Given the description of an element on the screen output the (x, y) to click on. 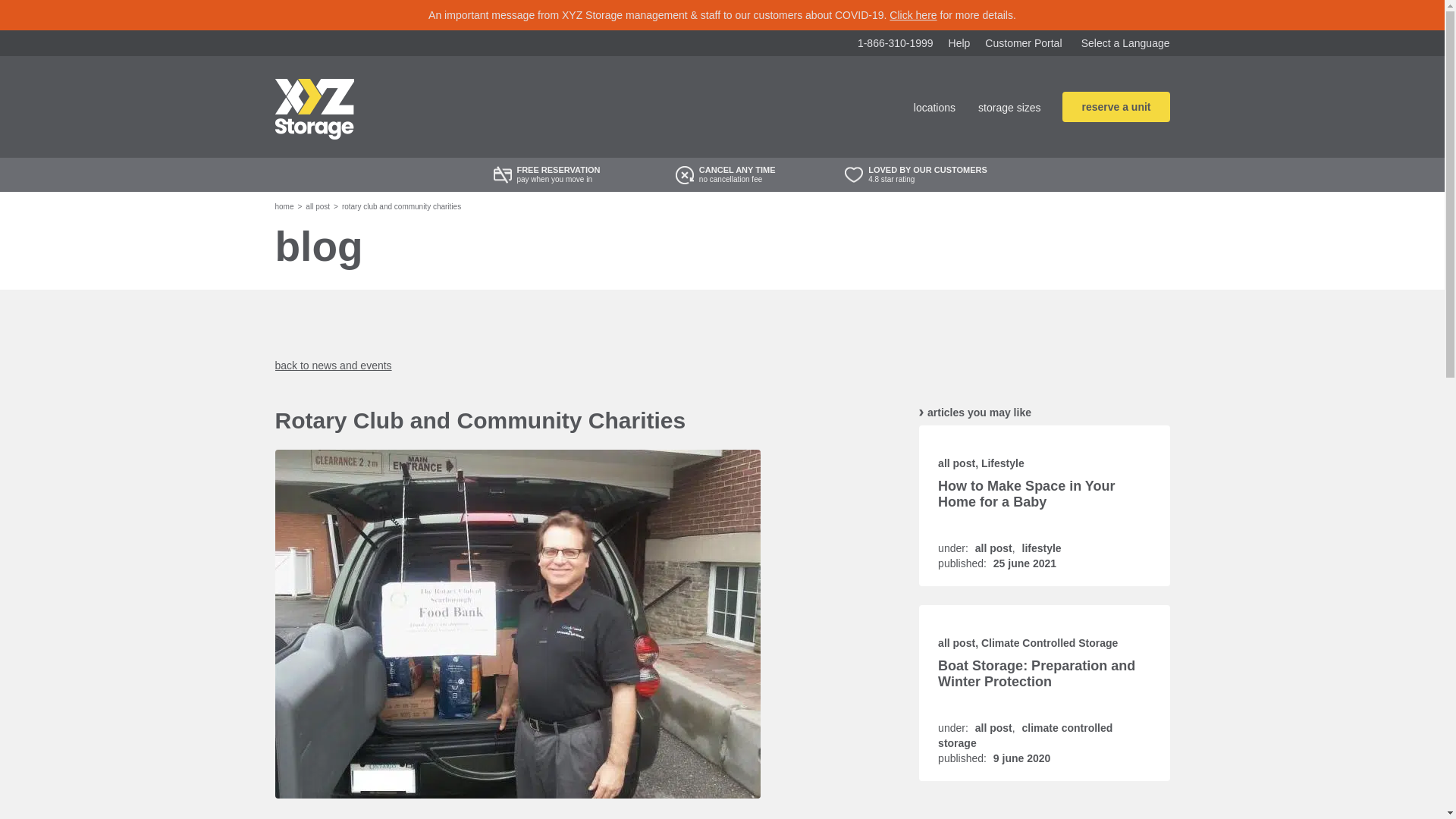
all post (993, 548)
home (284, 206)
Lifestyle (1003, 463)
back to news and events (333, 365)
climate controlled storage (1024, 735)
reserve a unit (1115, 106)
lifestyle (1041, 548)
Boat Storage: Preparation and Winter Protection (1036, 673)
1-866-310-1999 (895, 43)
Customer Portal (1023, 43)
Boat Storage: Preparation and Winter Protection (1036, 673)
Help (960, 43)
locations (934, 107)
all post (956, 643)
How to Make Space in Your Home for a Baby (1026, 493)
